Given the description of an element on the screen output the (x, y) to click on. 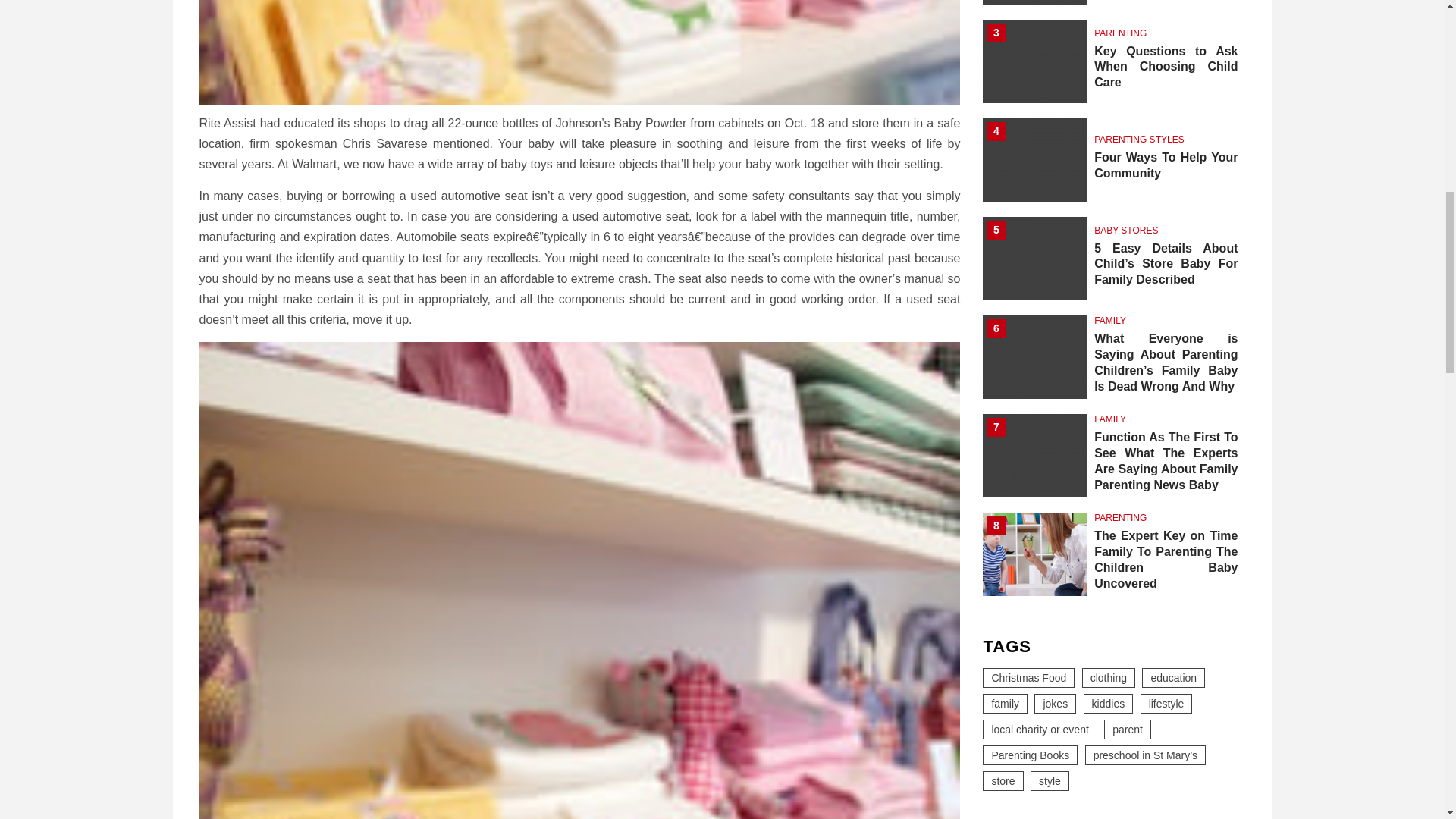
Four Ways To Help Your Community 13 (1034, 36)
